Given the description of an element on the screen output the (x, y) to click on. 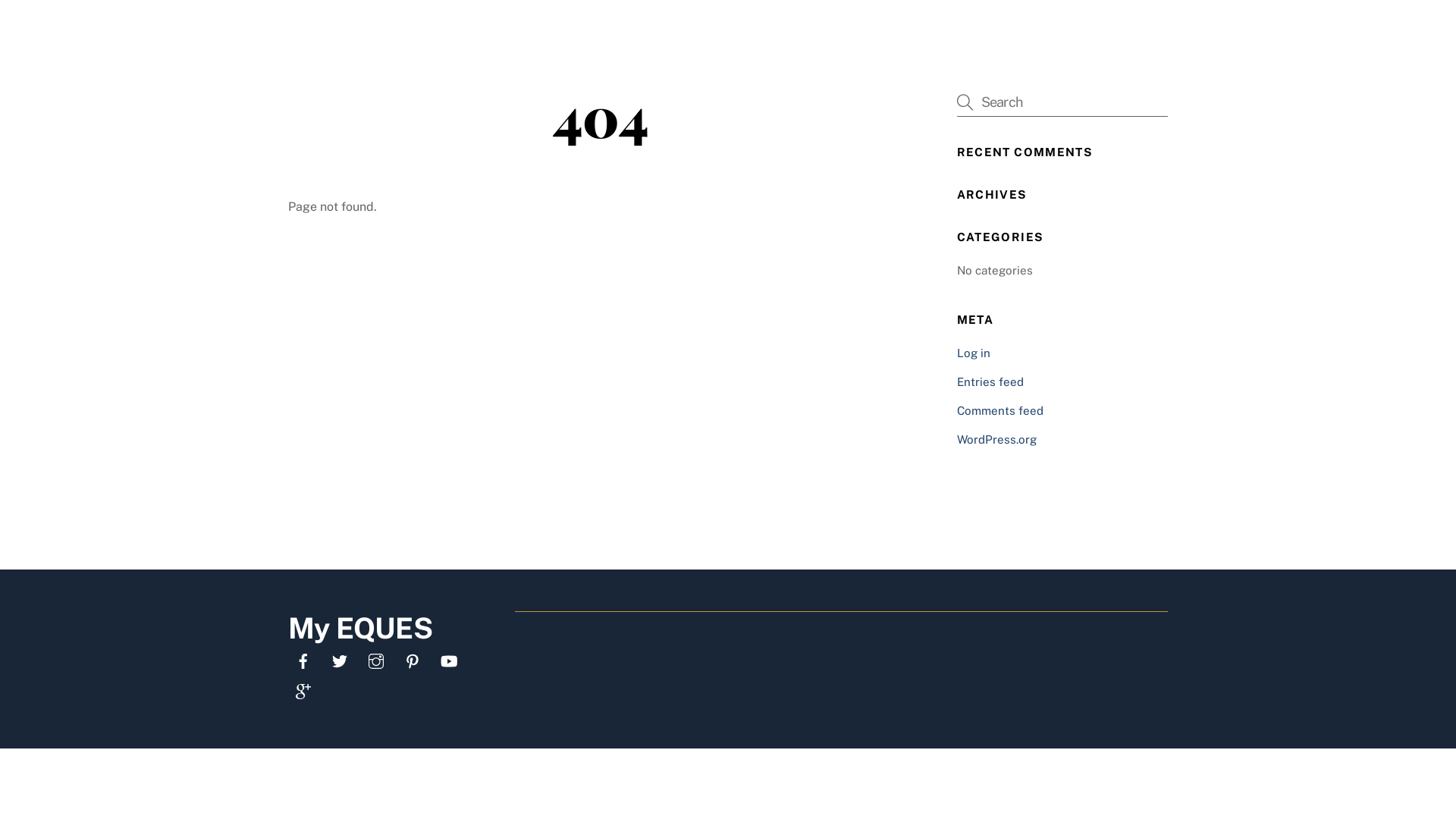
Log in Element type: text (973, 352)
My EQUES Element type: text (360, 628)
Entries feed Element type: text (990, 381)
Comments feed Element type: text (1000, 410)
WordPress.org Element type: text (996, 439)
Search Element type: hover (1062, 101)
